Given the description of an element on the screen output the (x, y) to click on. 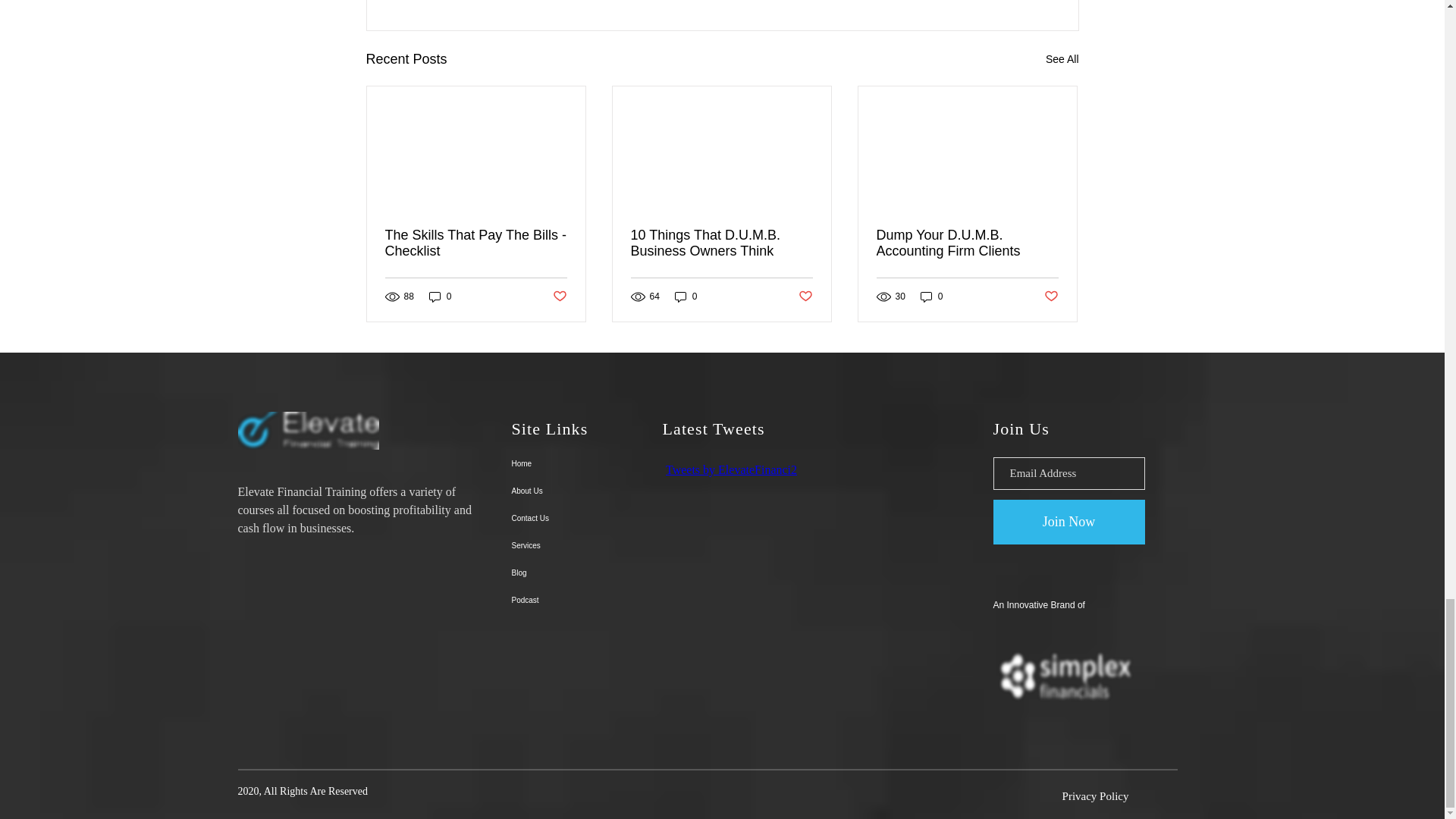
The Skills That Pay The Bills - Checklist (476, 243)
Post not marked as liked (558, 296)
See All (1061, 59)
0 (440, 296)
Embedded Content (778, 558)
